Given the description of an element on the screen output the (x, y) to click on. 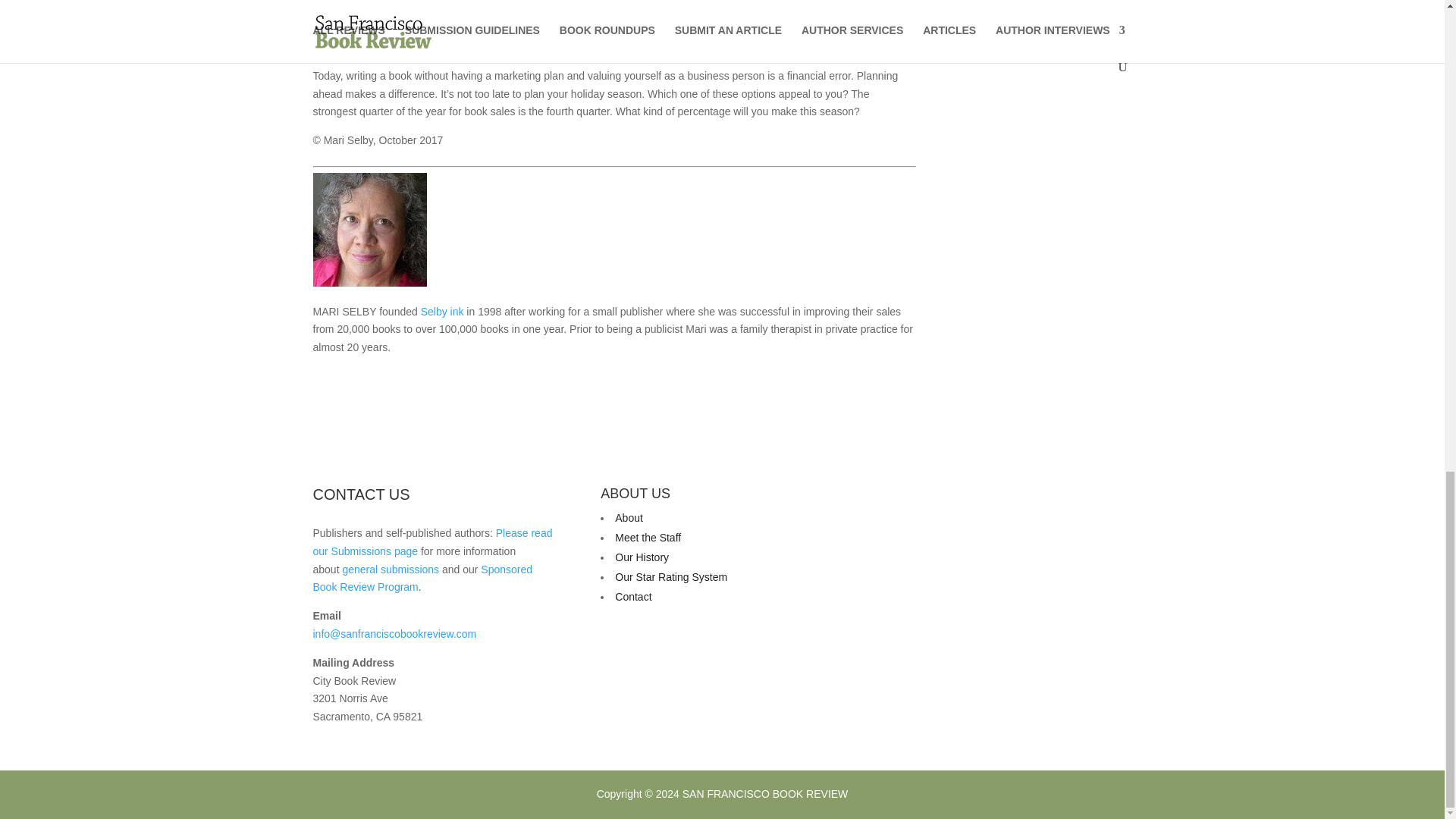
Sponsored Book Review Program (422, 578)
Meet the Staff (647, 537)
Contact (632, 596)
Our Star Rating System (670, 576)
SAN FRANCISCO BOOK REVIEW (765, 793)
Please read our Submissions page (432, 542)
general submissions (390, 569)
About (628, 517)
Selby ink (442, 311)
Submitting Books for Review (432, 542)
